Given the description of an element on the screen output the (x, y) to click on. 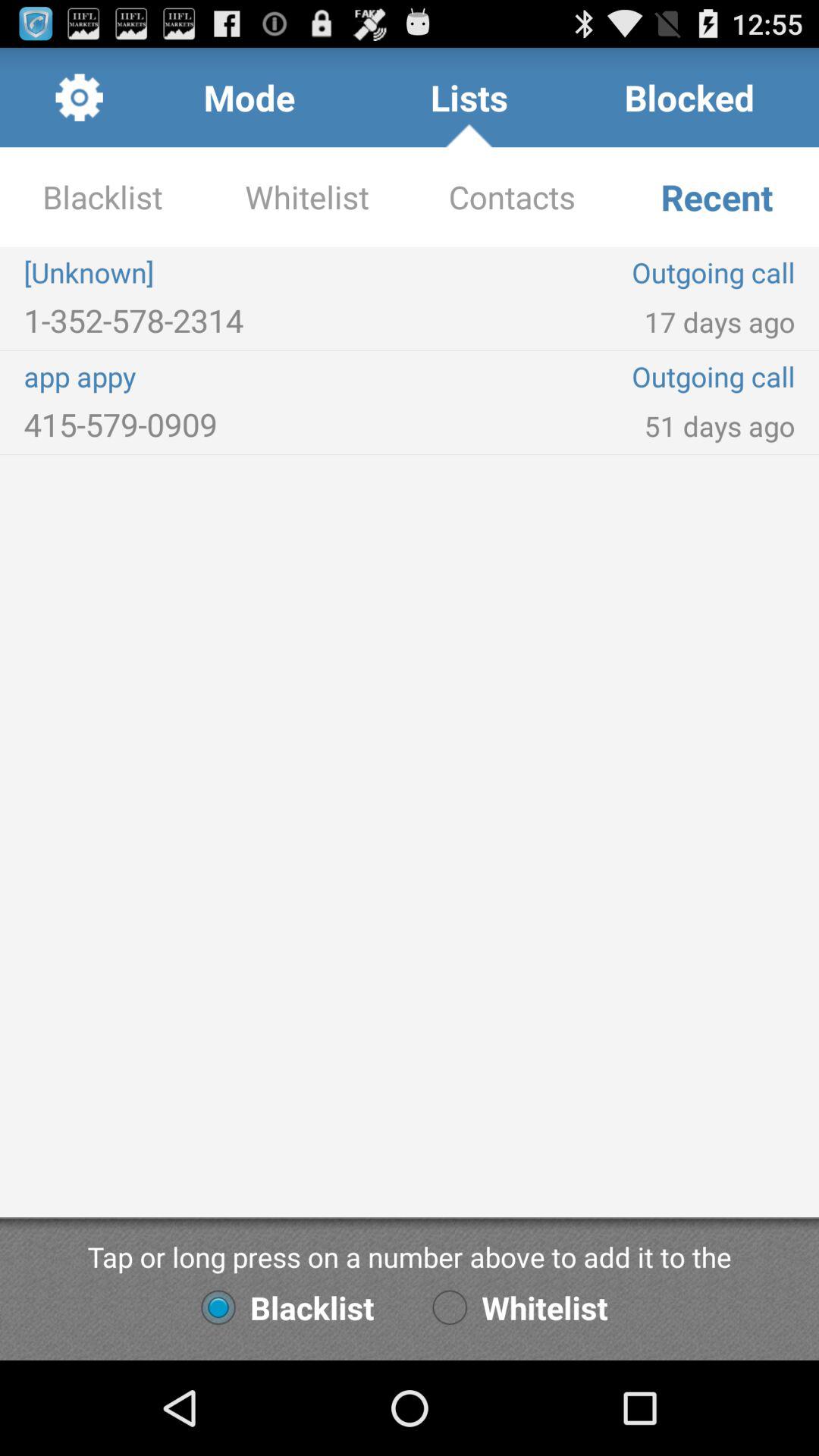
choose app next to lists item (249, 97)
